Given the description of an element on the screen output the (x, y) to click on. 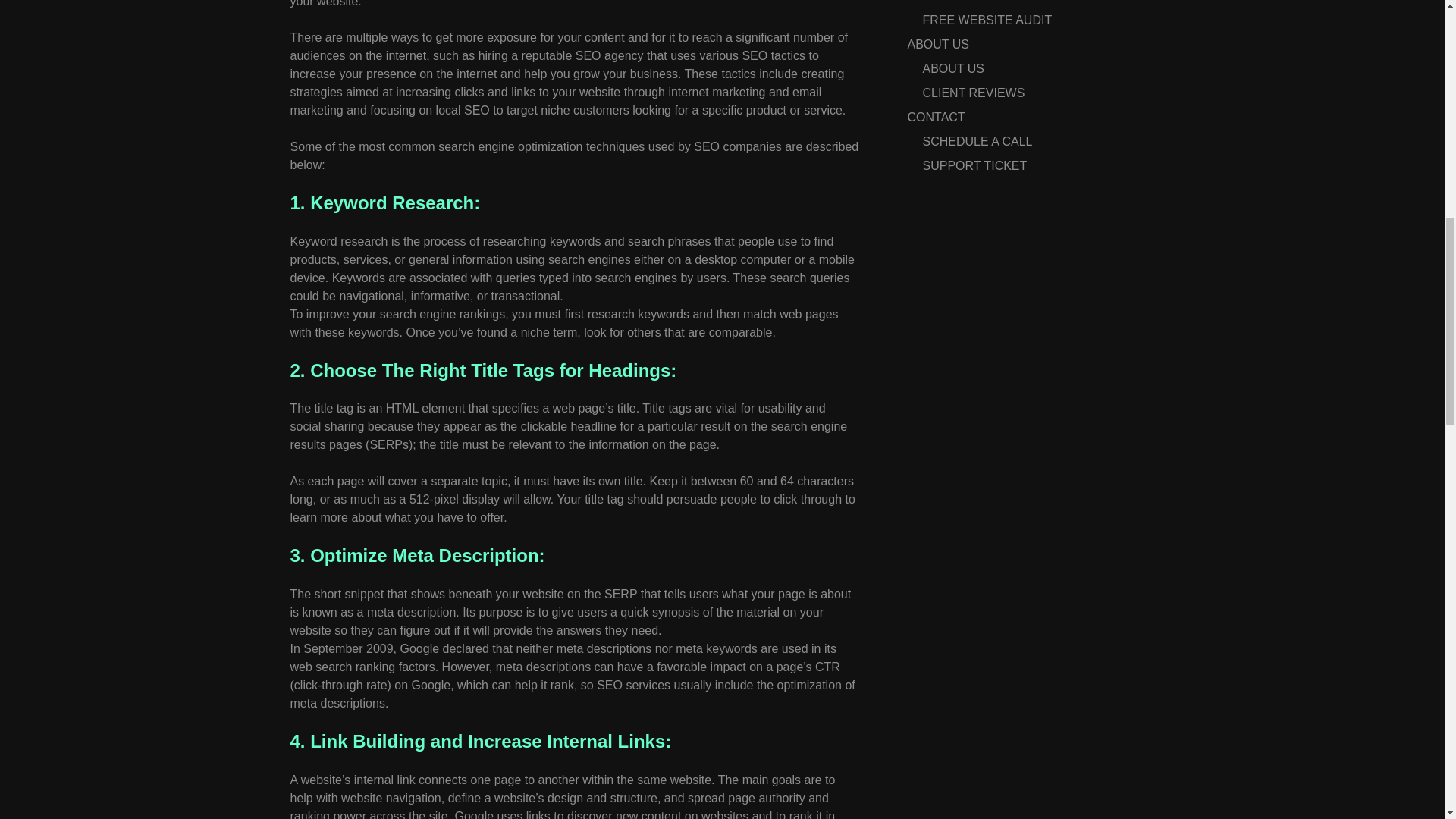
CLIENT REVIEWS (973, 92)
SUPPORT TICKET (973, 164)
ABOUT US (938, 43)
ABOUT US (952, 68)
SCHEDULE A CALL (976, 1)
FREE WEBSITE AUDIT (986, 19)
CONTACT (935, 116)
SCHEDULE A CALL (976, 141)
